Given the description of an element on the screen output the (x, y) to click on. 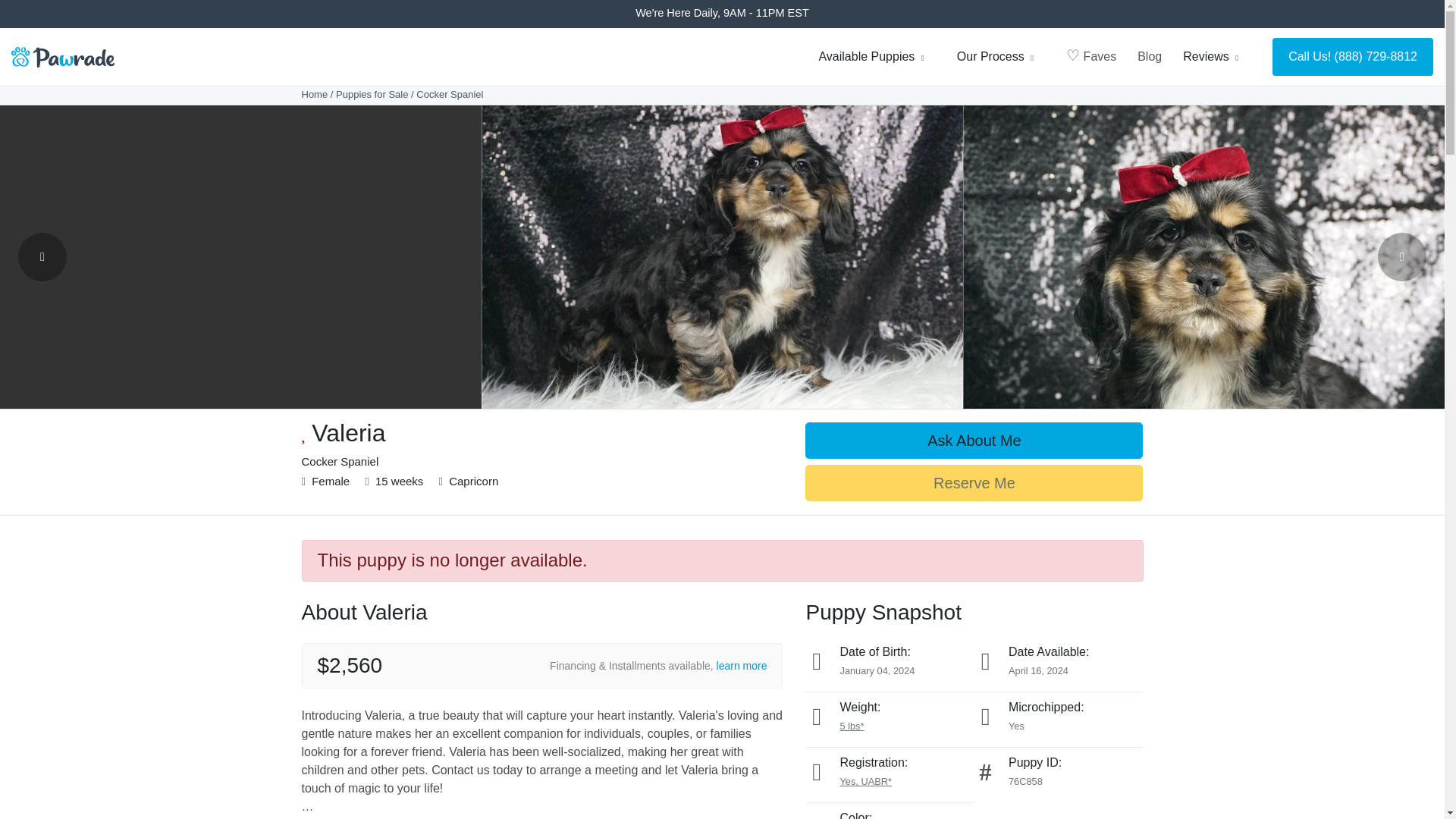
Contact Us (973, 440)
Home (315, 93)
Our Process (1000, 56)
Reviews (1216, 56)
Available Puppies (876, 56)
Reserve Me (973, 483)
Puppies for Sale (371, 93)
Cocker Spaniel (449, 93)
